Given the description of an element on the screen output the (x, y) to click on. 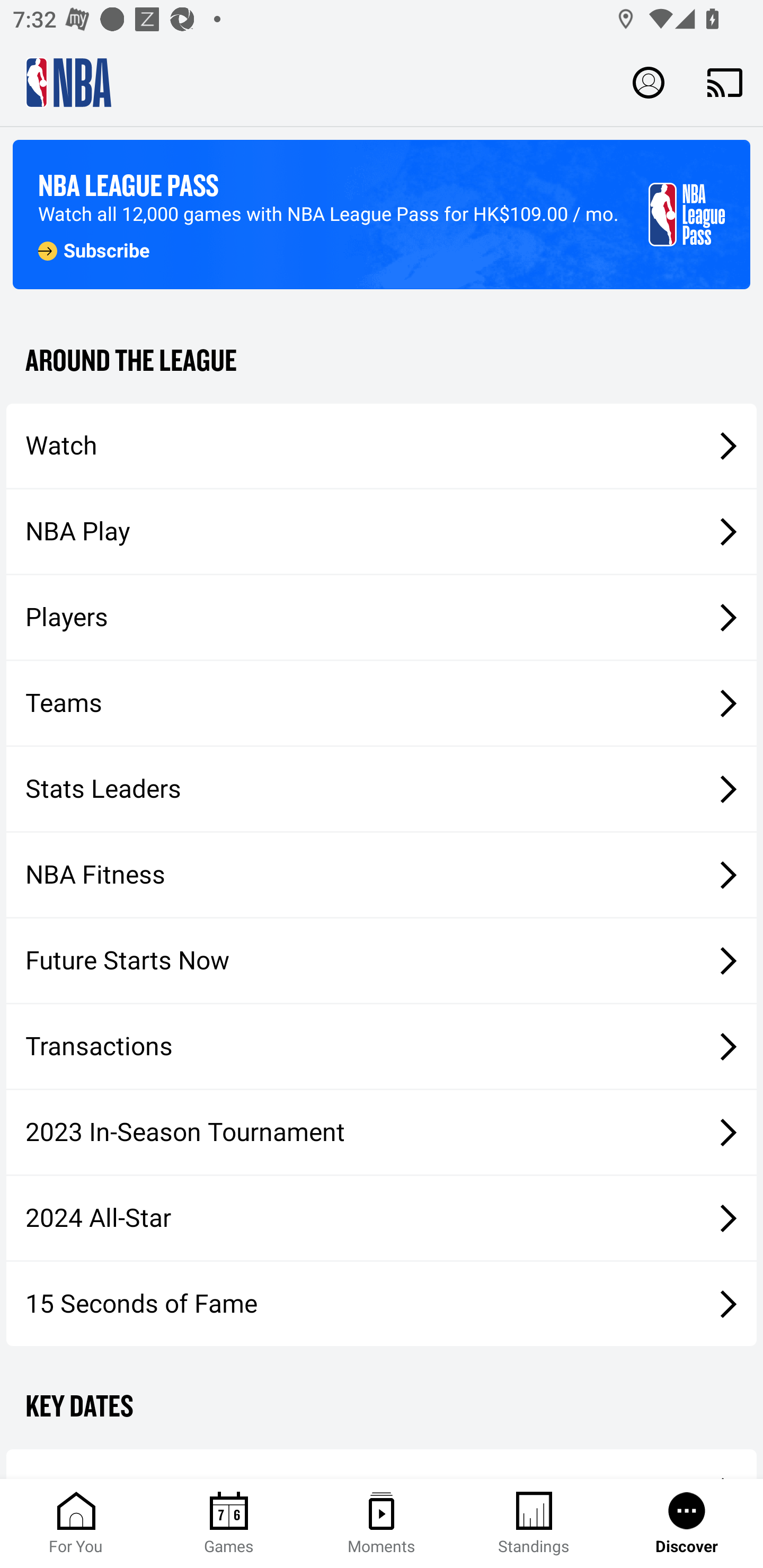
Cast. Disconnected (724, 82)
Profile (648, 81)
Watch (381, 444)
NBA Play (381, 531)
Players (381, 617)
Teams (381, 702)
Stats Leaders (381, 788)
NBA Fitness (381, 874)
Future Starts Now (381, 960)
Transactions (381, 1046)
2023 In-Season Tournament (381, 1131)
2024 All-Star (381, 1218)
15 Seconds of Fame (381, 1303)
For You (76, 1523)
Games (228, 1523)
Moments (381, 1523)
Standings (533, 1523)
